Given the description of an element on the screen output the (x, y) to click on. 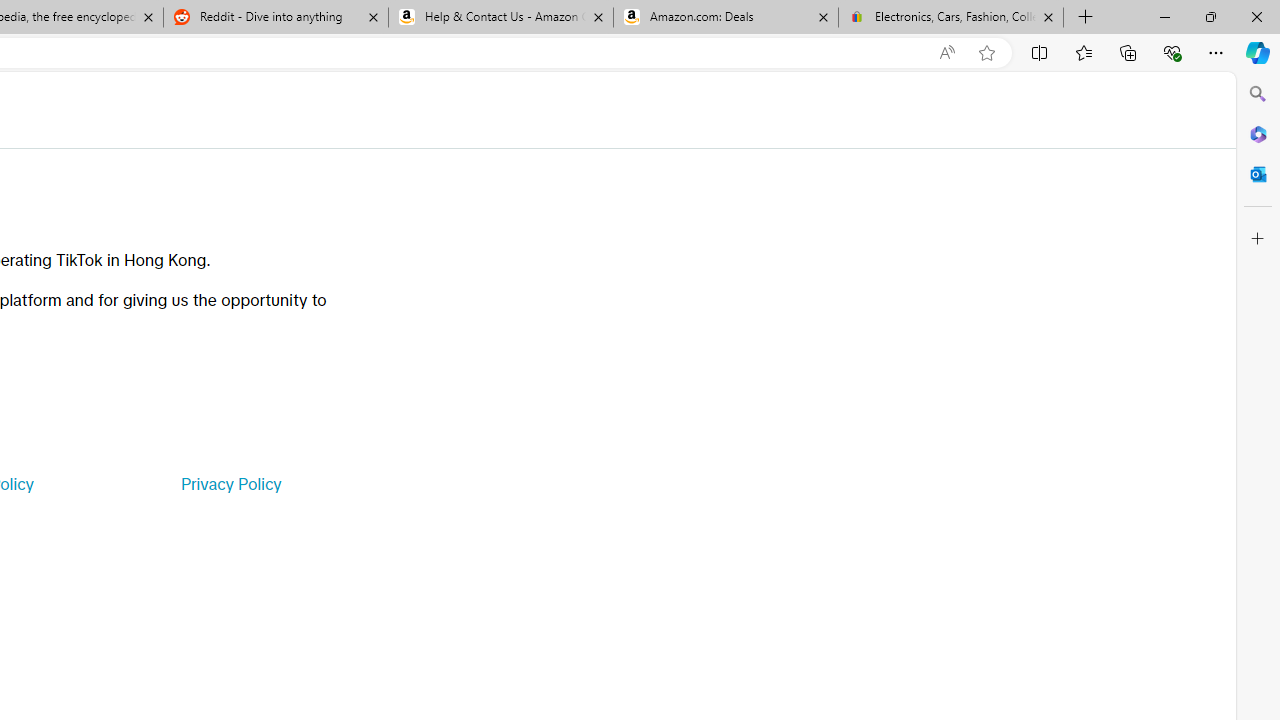
Privacy Policy (230, 484)
Amazon.com: Deals (726, 17)
